Given the description of an element on the screen output the (x, y) to click on. 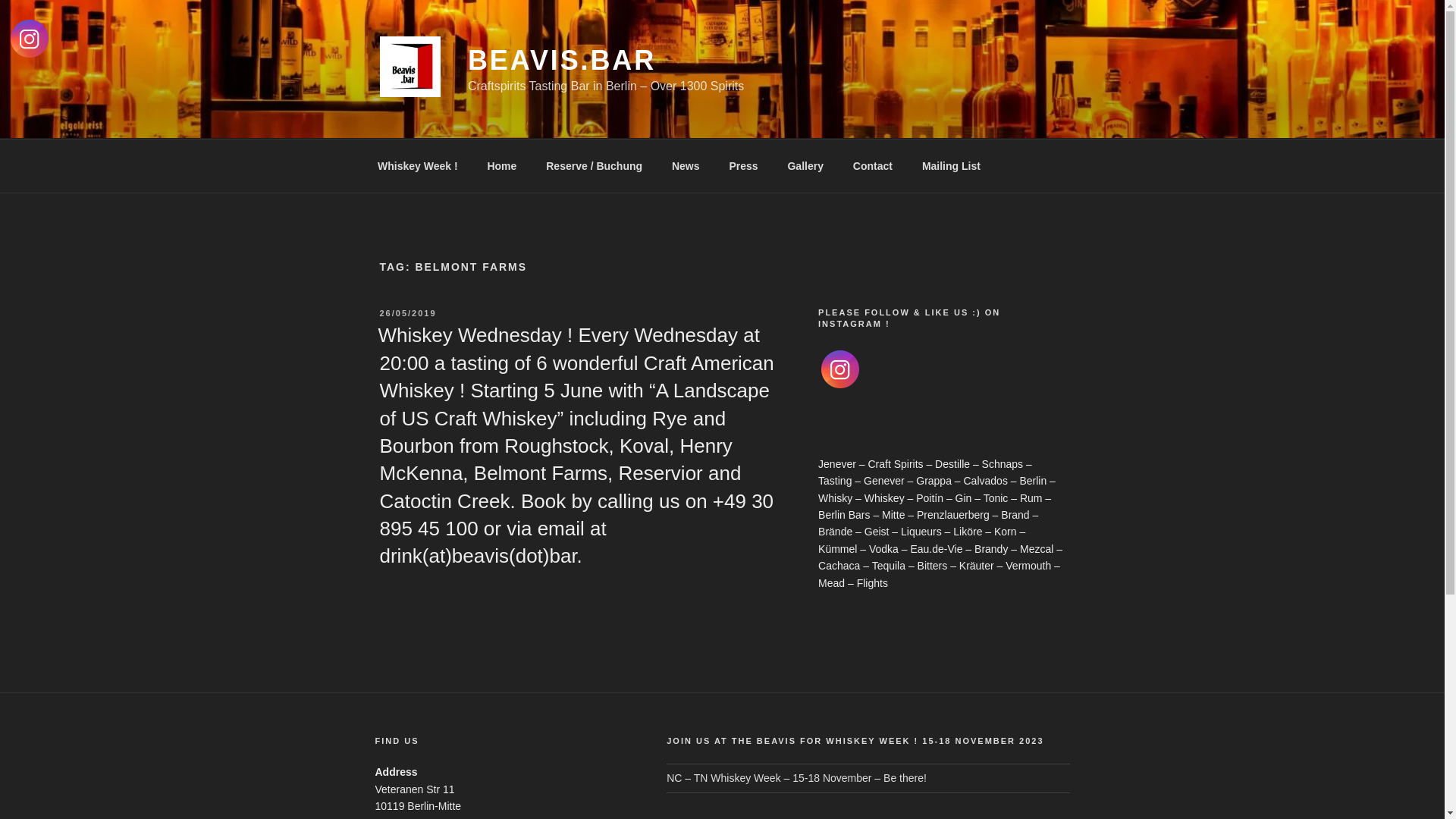
26/05/2019 Element type: text (407, 312)
Mailing List Element type: text (950, 165)
Instagram Element type: hover (29, 38)
Whiskey Week ! Element type: text (417, 165)
Press Element type: text (743, 165)
Gallery Element type: text (805, 165)
Contact Element type: text (872, 165)
Home Element type: text (501, 165)
BEAVIS.BAR Element type: text (561, 59)
Instagram Element type: hover (840, 369)
News Element type: text (685, 165)
Reserve / Buchung Element type: text (594, 165)
